Given the description of an element on the screen output the (x, y) to click on. 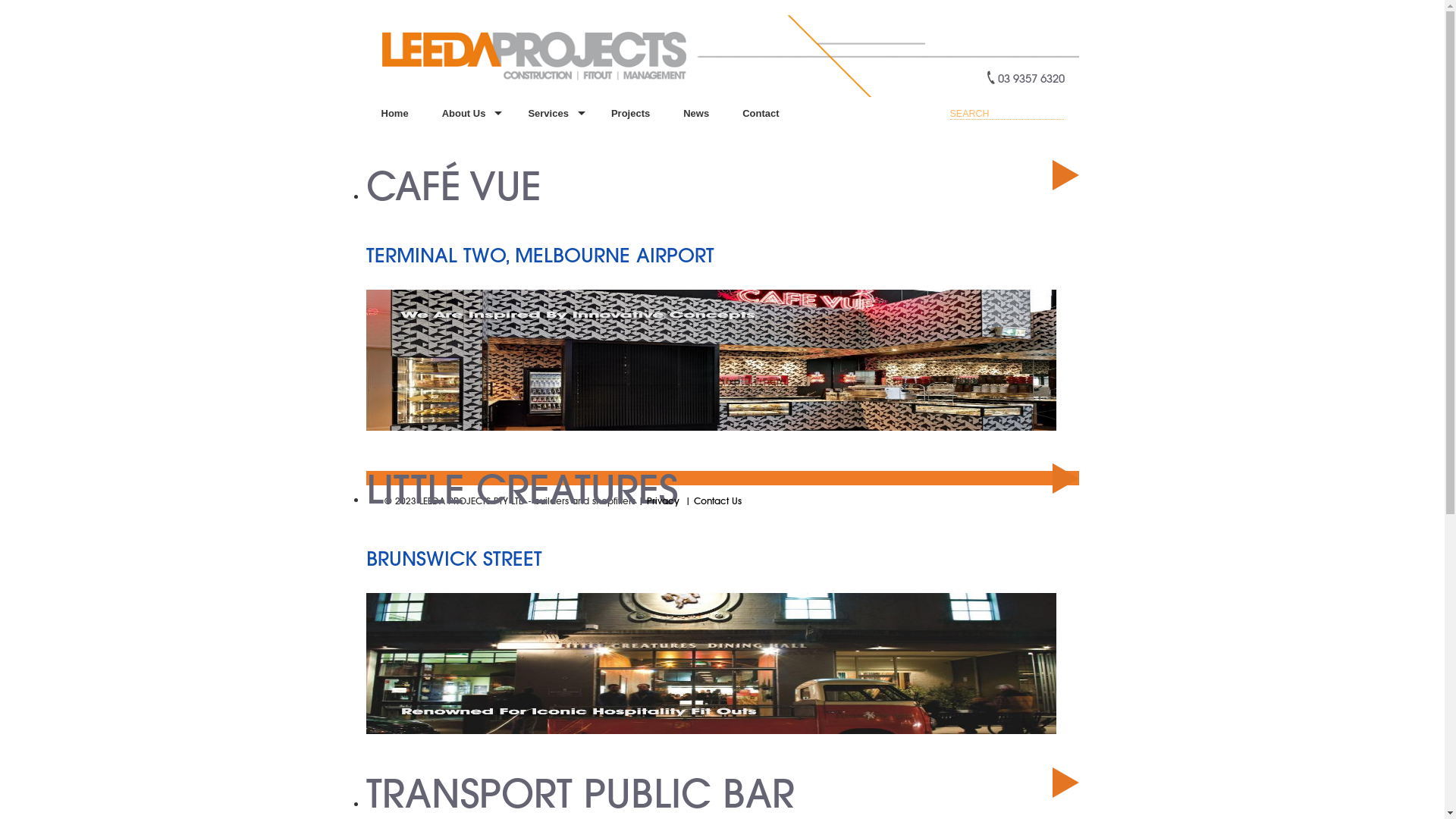
LITTLE CREATURES Element type: text (521, 488)
Contact Us Element type: text (716, 500)
Services Element type: text (552, 113)
Home Element type: text (394, 113)
Projects Element type: text (630, 113)
News Element type: text (696, 113)
Contact Element type: text (760, 113)
BRUNSWICK STREET Element type: text (453, 558)
TRANSPORT PUBLIC BAR Element type: text (579, 792)
TERMINAL TWO, MELBOURNE AIRPORT Element type: text (539, 254)
About Us Element type: text (468, 113)
Privacy Element type: text (663, 500)
